Given the description of an element on the screen output the (x, y) to click on. 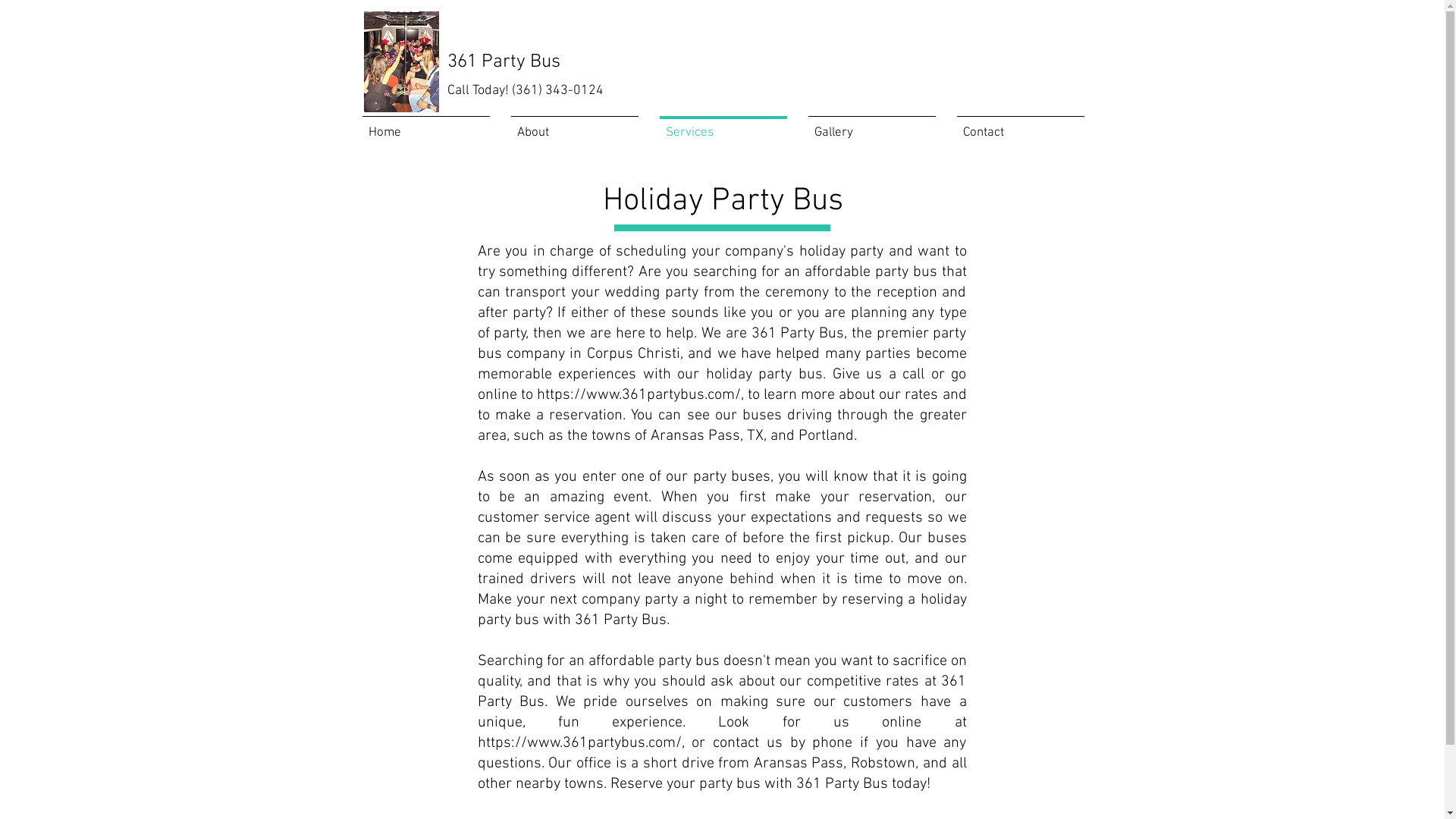
Contact Element type: text (1020, 126)
https://www.361partybus.com/, Element type: text (639, 394)
Services Element type: text (723, 126)
Home Element type: text (425, 126)
About Element type: text (574, 126)
Gallery Element type: text (871, 126)
